Given the description of an element on the screen output the (x, y) to click on. 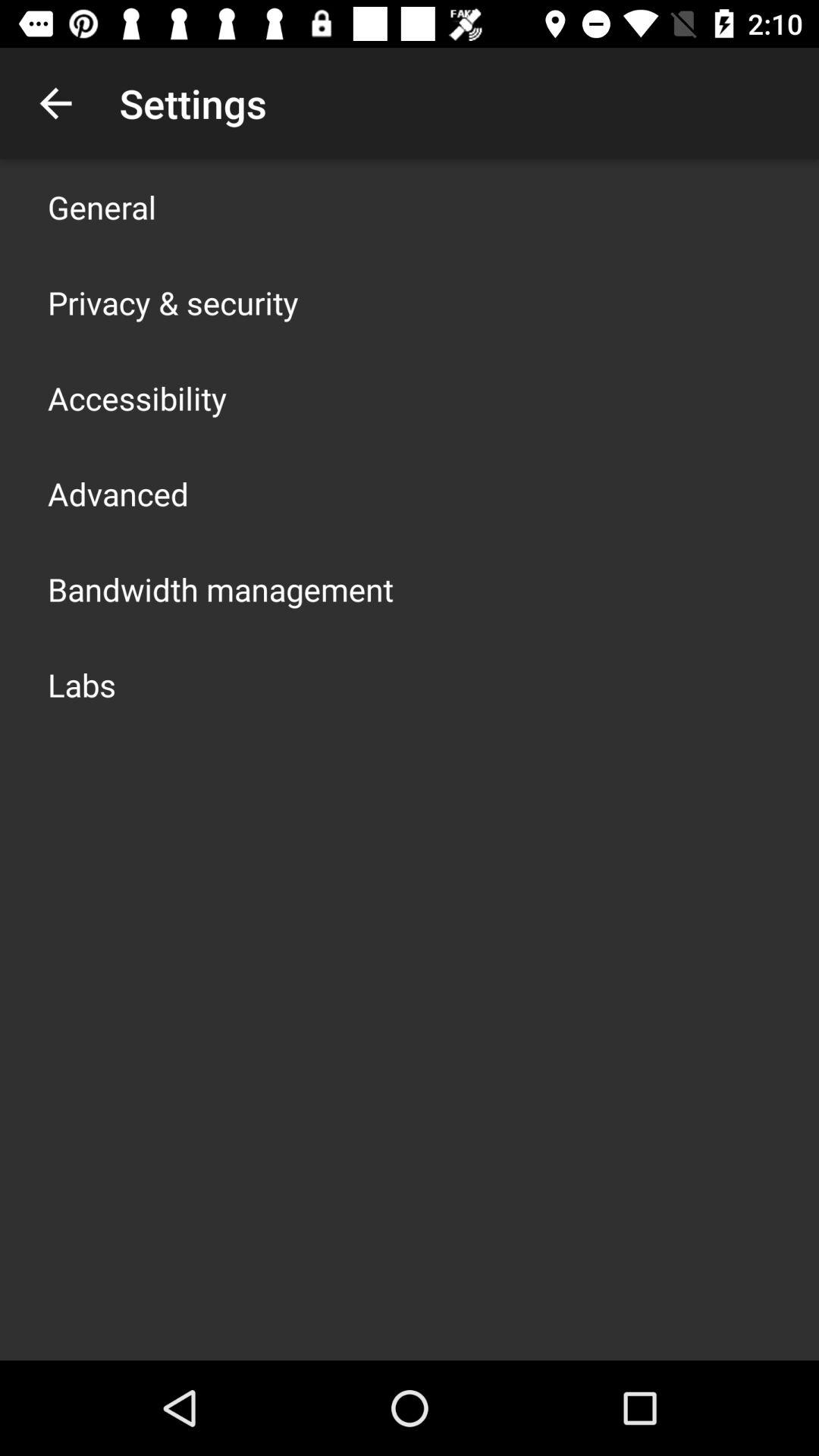
click the advanced (117, 493)
